Given the description of an element on the screen output the (x, y) to click on. 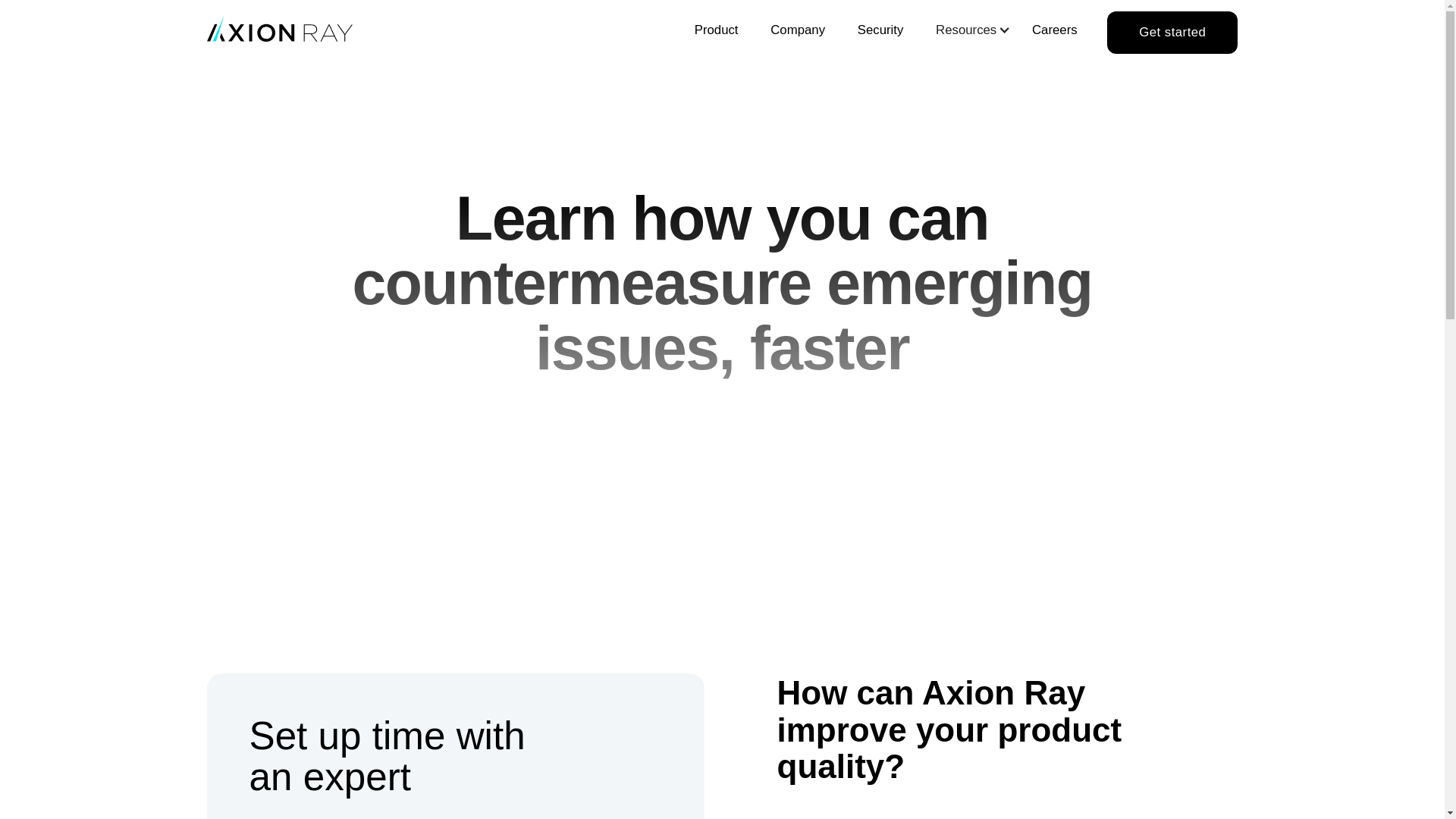
Company (797, 32)
Careers (1054, 32)
Get started (1171, 32)
Product (964, 32)
Security (715, 32)
